Given the description of an element on the screen output the (x, y) to click on. 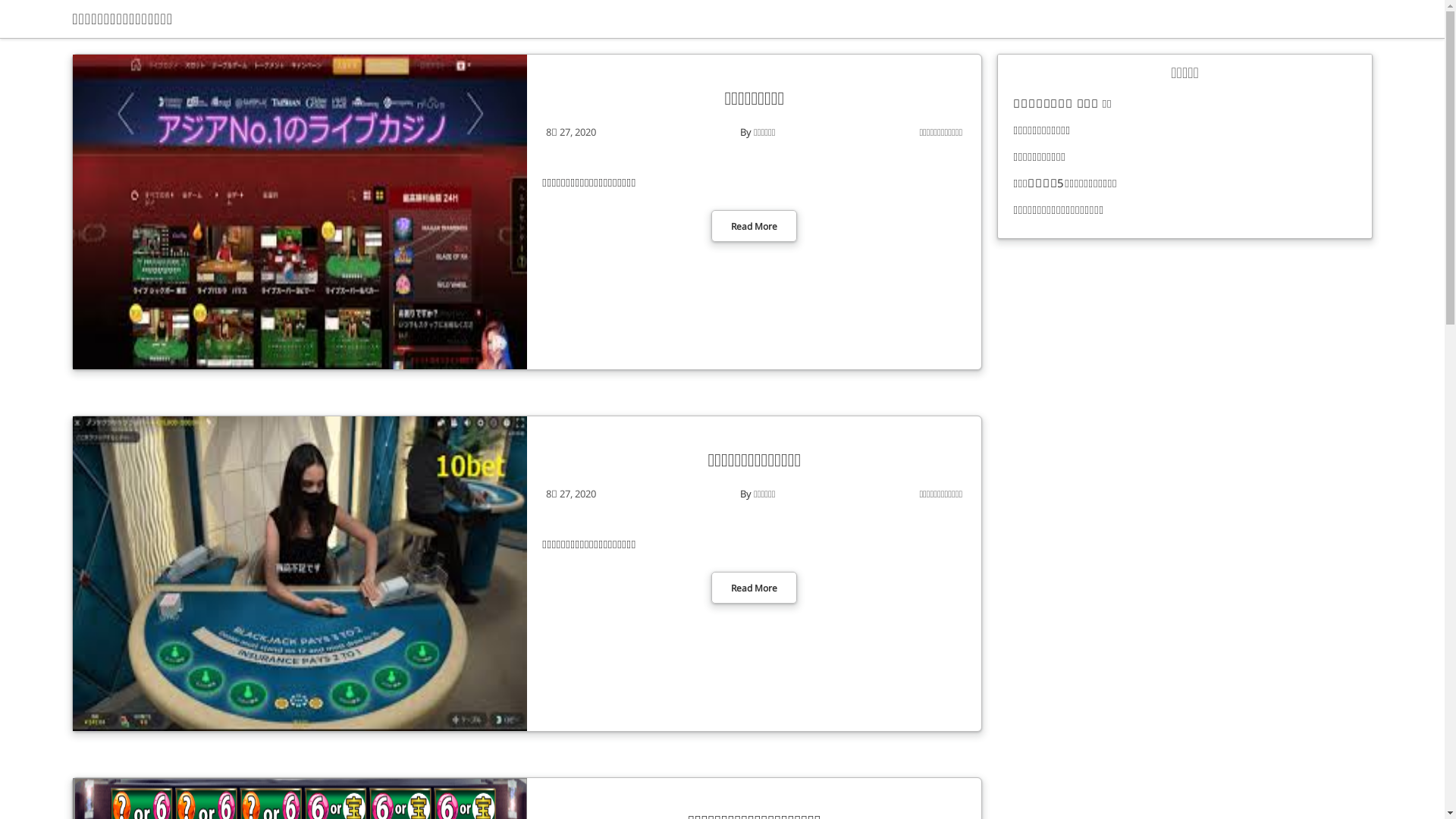
Read More Element type: text (754, 225)
Read More Element type: text (754, 587)
